Given the description of an element on the screen output the (x, y) to click on. 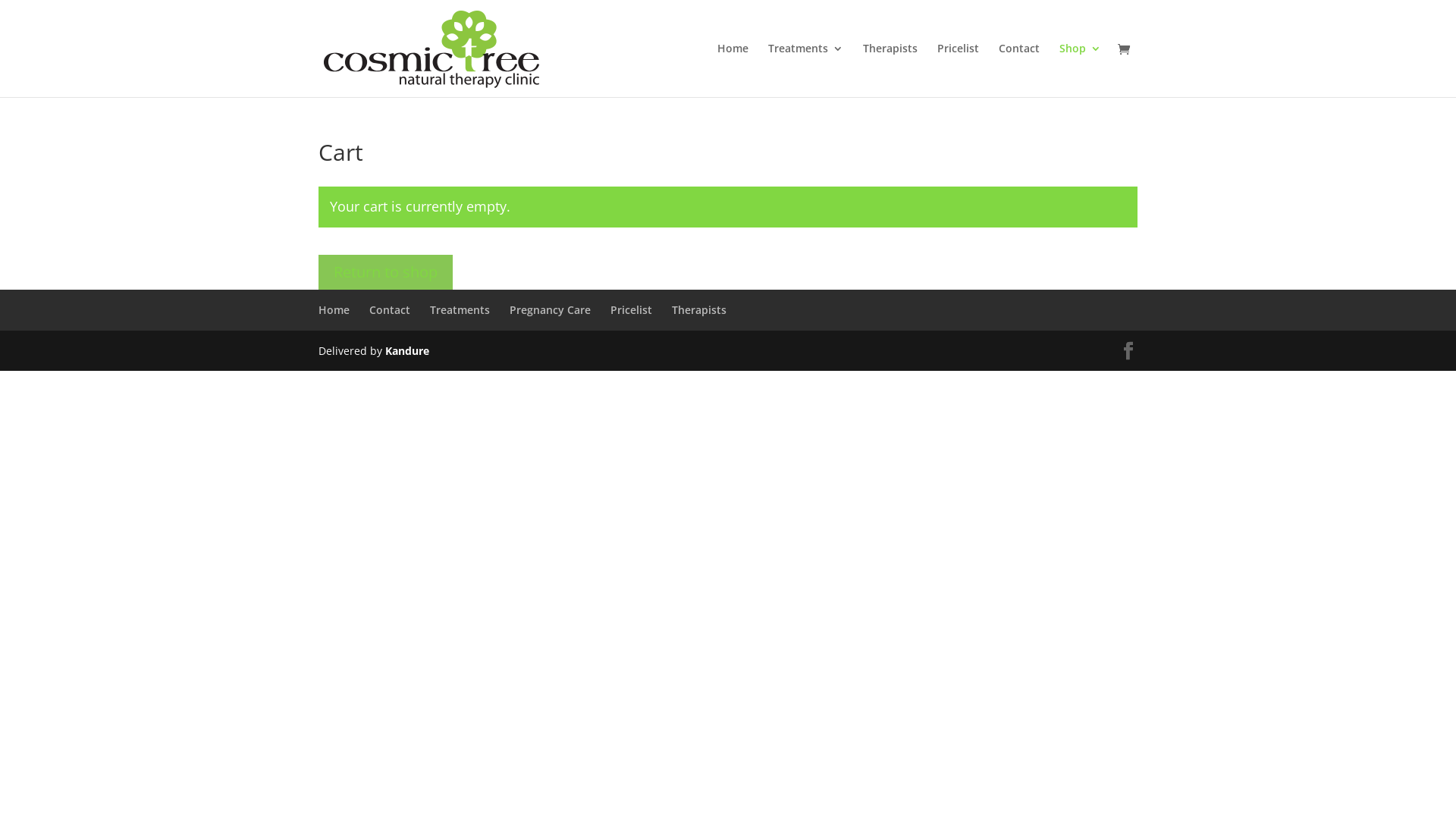
Contact Element type: text (389, 309)
Pricelist Element type: text (958, 70)
Therapists Element type: text (698, 309)
Contact Element type: text (1018, 70)
Home Element type: text (732, 70)
Kandure Element type: text (407, 350)
Pricelist Element type: text (631, 309)
Treatments Element type: text (459, 309)
Home Element type: text (333, 309)
Therapists Element type: text (889, 70)
Pregnancy Care Element type: text (549, 309)
Shop Element type: text (1080, 70)
Return to shop Element type: text (385, 271)
Treatments Element type: text (805, 70)
